Given the description of an element on the screen output the (x, y) to click on. 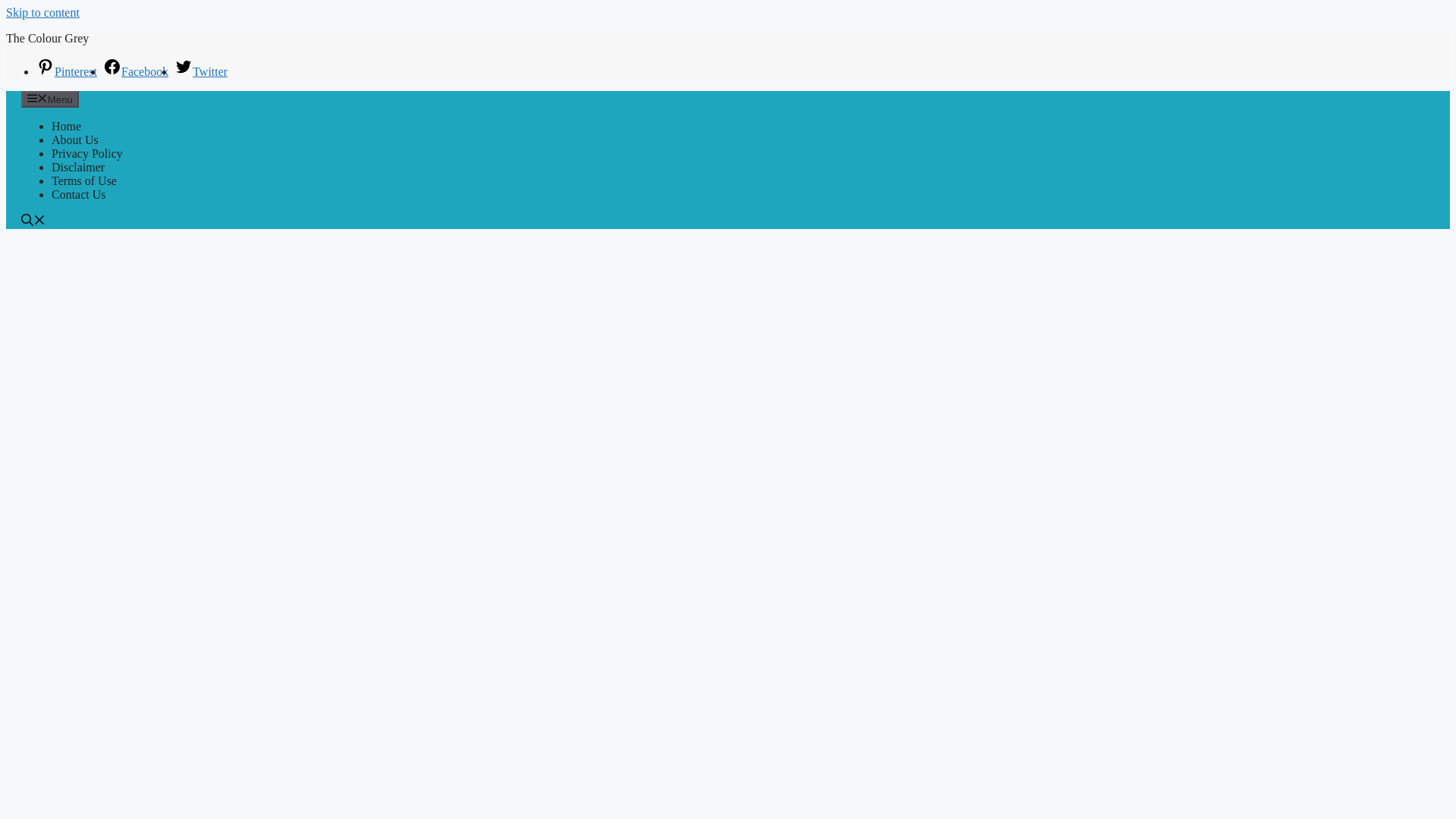
The Colour Grey (46, 38)
Terms of Use (83, 180)
Skip to content (42, 11)
Pinterest (66, 71)
Skip to content (42, 11)
Facebook (135, 71)
About Us (74, 139)
Twitter (200, 71)
Privacy Policy (86, 153)
Home (65, 125)
